Given the description of an element on the screen output the (x, y) to click on. 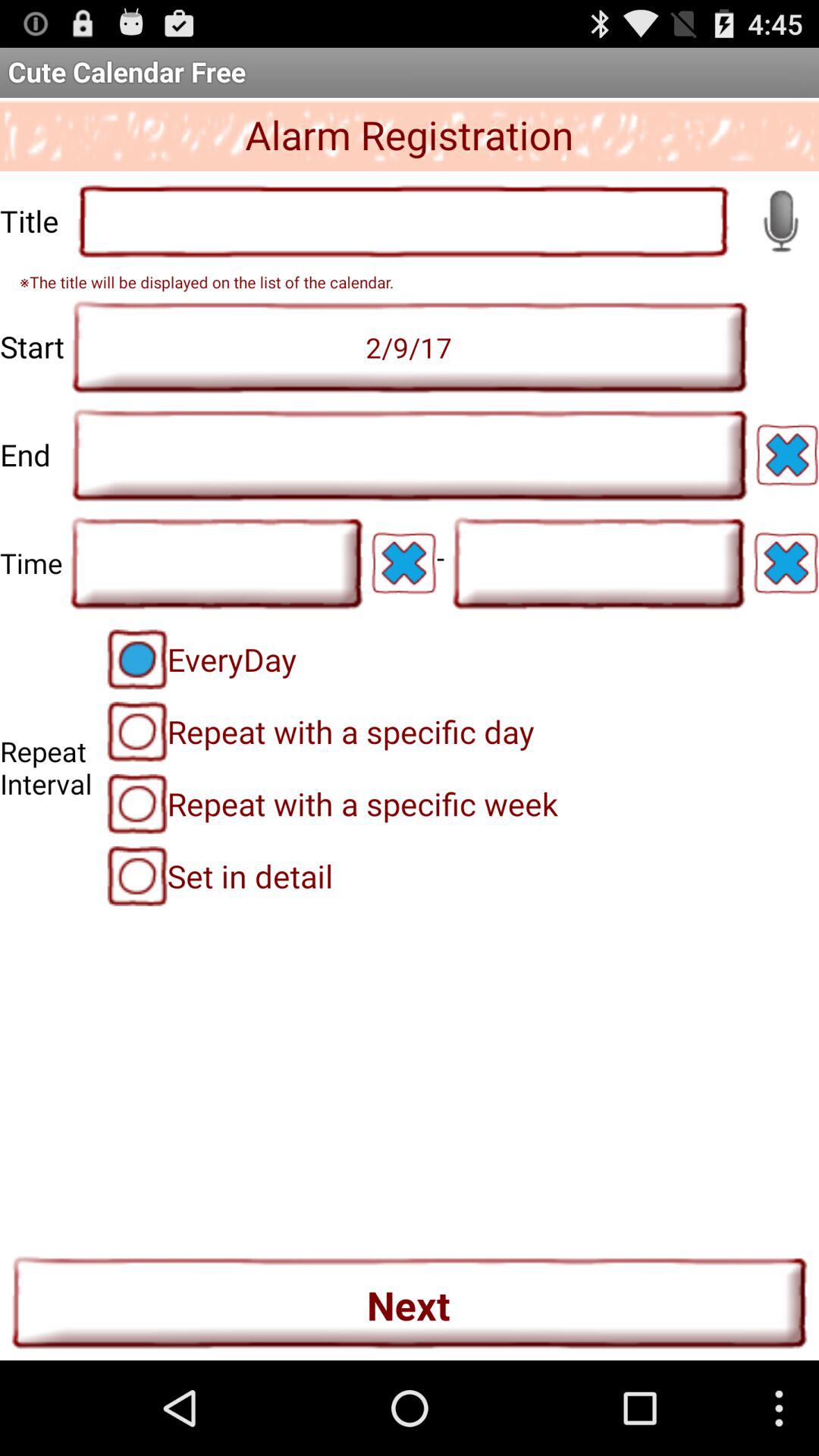
choose the set in detail item (220, 876)
